Given the description of an element on the screen output the (x, y) to click on. 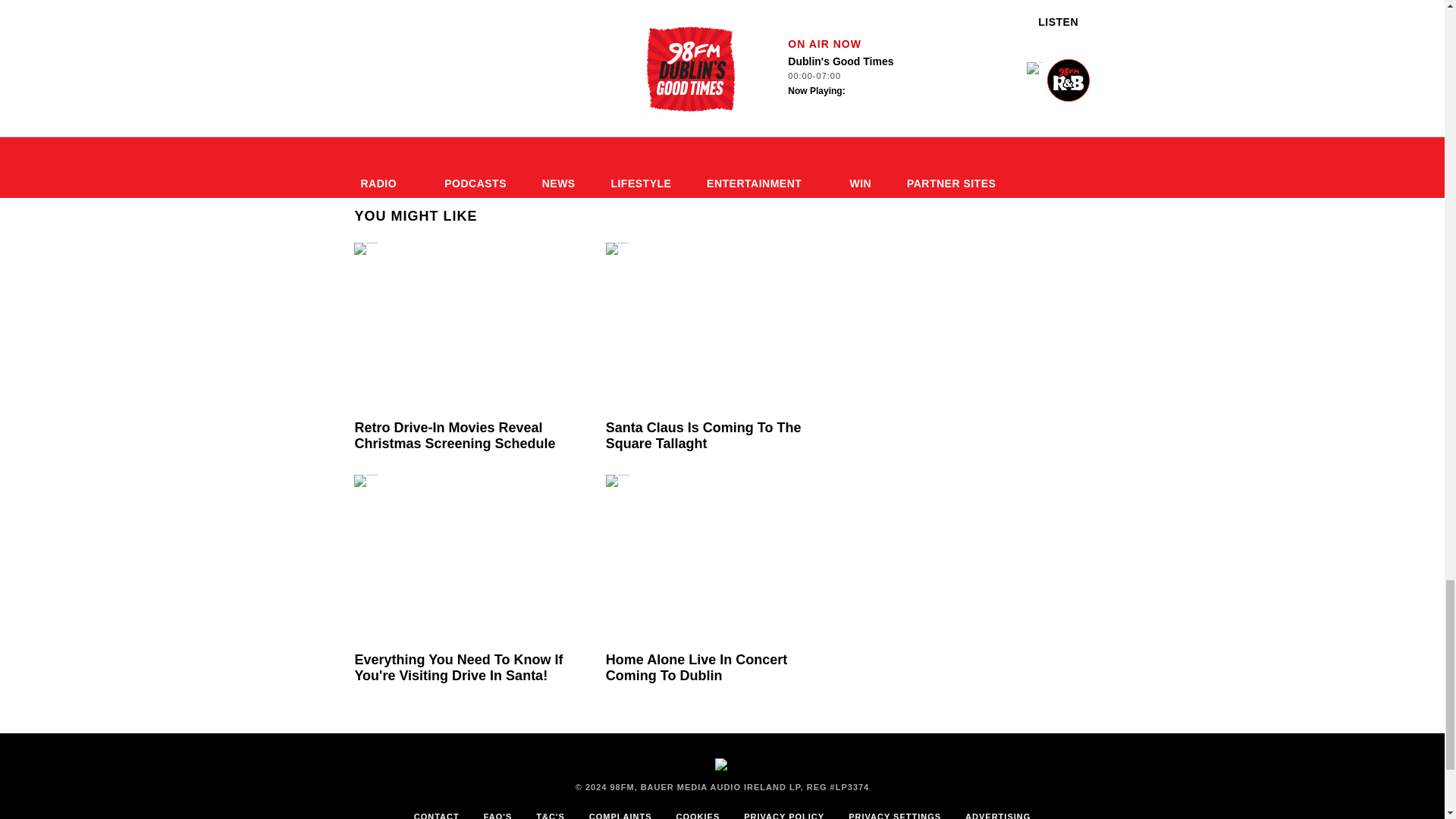
Contact (436, 812)
FAQ's (497, 812)
